Given the description of an element on the screen output the (x, y) to click on. 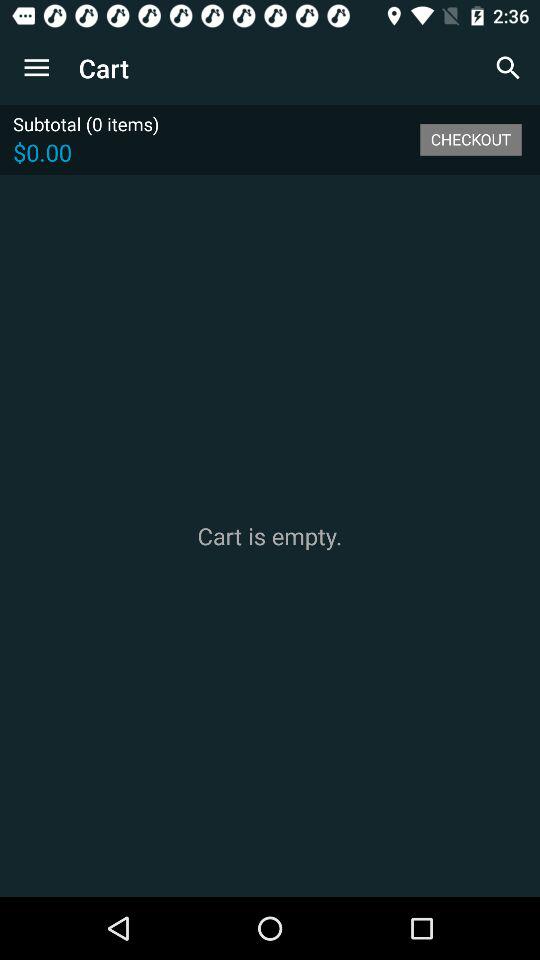
launch the checkout (470, 139)
